Given the description of an element on the screen output the (x, y) to click on. 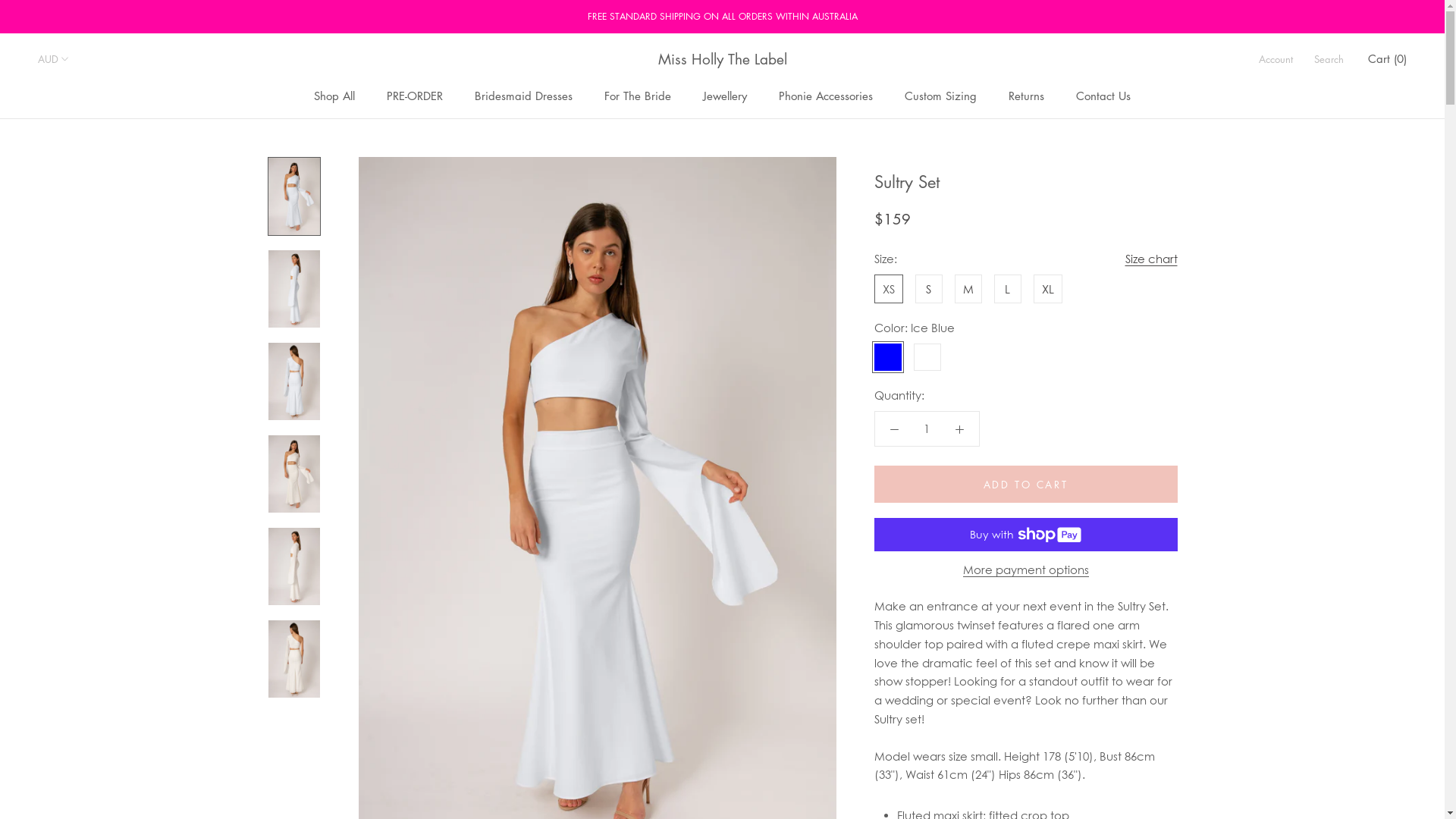
More payment options Element type: text (1025, 569)
ADD TO CART Element type: text (1024, 483)
Jewellery
Jewellery Element type: text (724, 95)
FREE STANDARD SHIPPING ON ALL ORDERS WITHIN AUSTRALIA Element type: text (721, 15)
Search Element type: text (1328, 58)
Phonie Accessories
Phonie Accessories Element type: text (825, 95)
Shop All
Shop All Element type: text (333, 95)
For The Bride
For The Bride Element type: text (637, 95)
Size chart Element type: text (1151, 258)
Miss Holly The Label Element type: text (722, 58)
PRE-ORDER
PRE-ORDER Element type: text (414, 95)
Returns
Returns Element type: text (1026, 95)
Account Element type: text (1275, 58)
Contact Us
Contact Us Element type: text (1103, 95)
Cart (0) Element type: text (1387, 57)
Custom Sizing
Custom Sizing Element type: text (940, 95)
Bridesmaid Dresses
Bridesmaid Dresses Element type: text (523, 95)
